Given the description of an element on the screen output the (x, y) to click on. 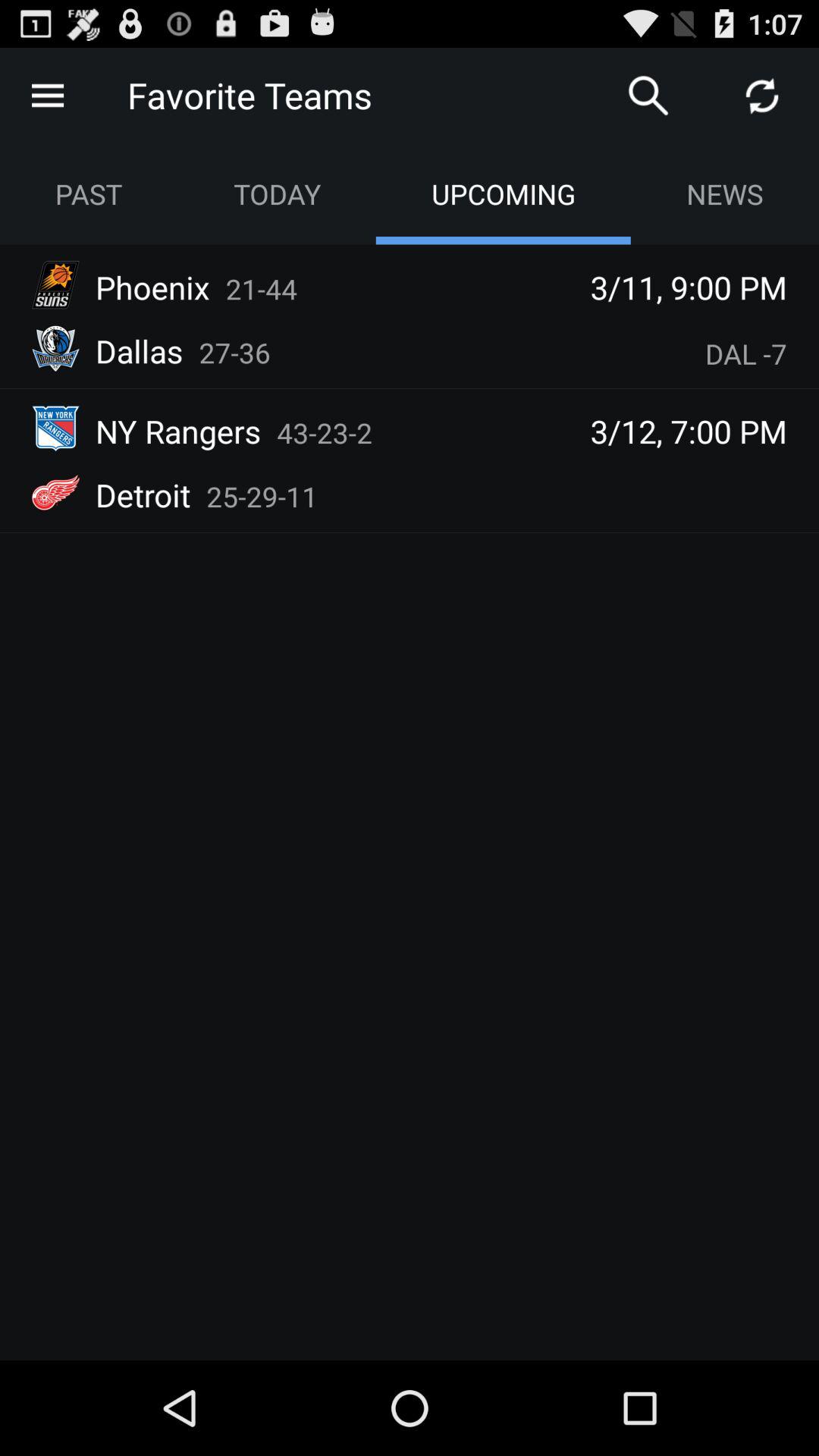
refresh the list (762, 95)
